Given the description of an element on the screen output the (x, y) to click on. 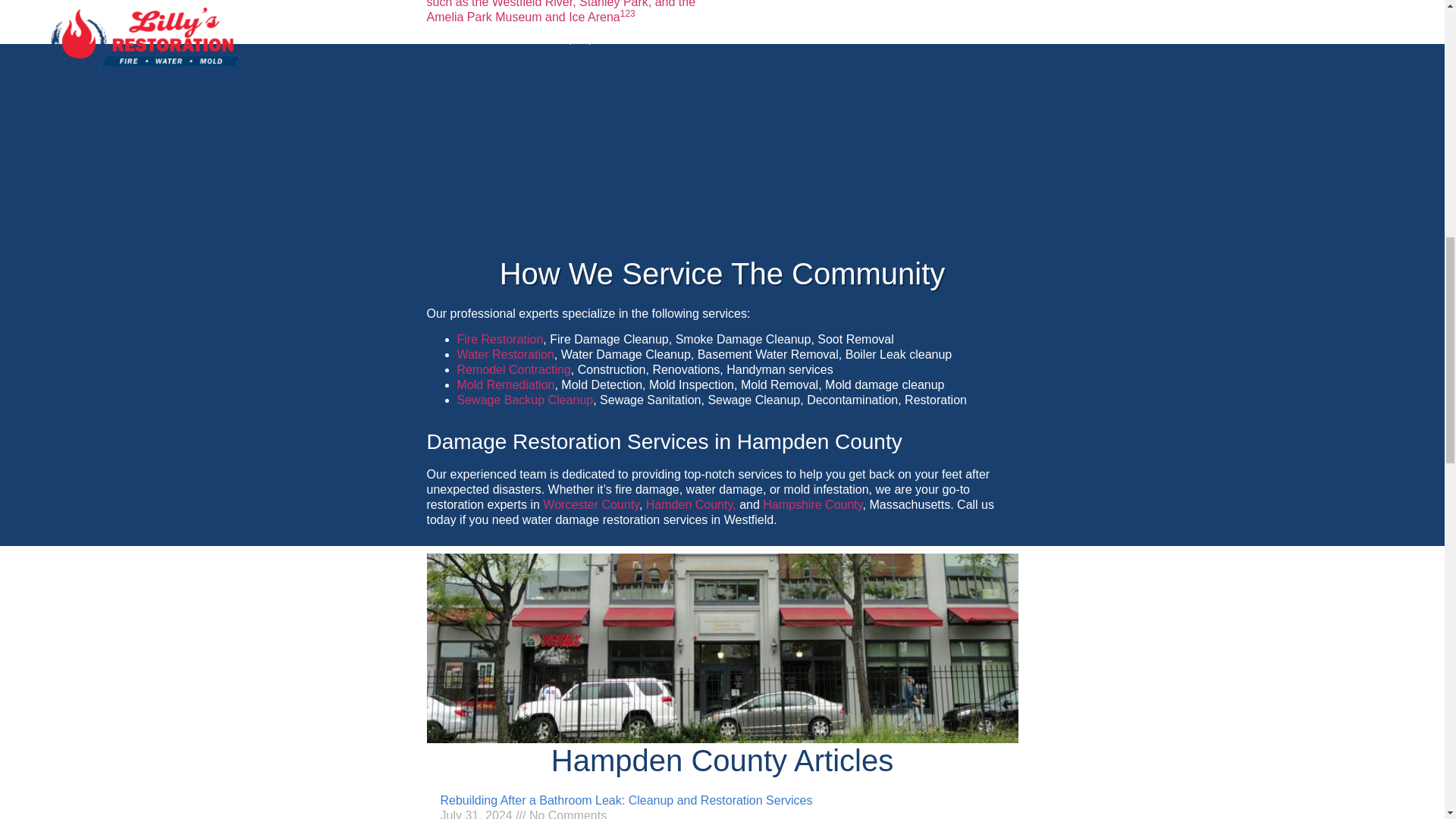
Worcester County (591, 504)
Hamden County, (691, 504)
Water Restoration (505, 354)
Fire Restoration (500, 338)
Remodel Contracting (513, 369)
Mold Remediation (505, 384)
Hampshire County (811, 504)
Sewage Backup Cleanup (524, 399)
